Given the description of an element on the screen output the (x, y) to click on. 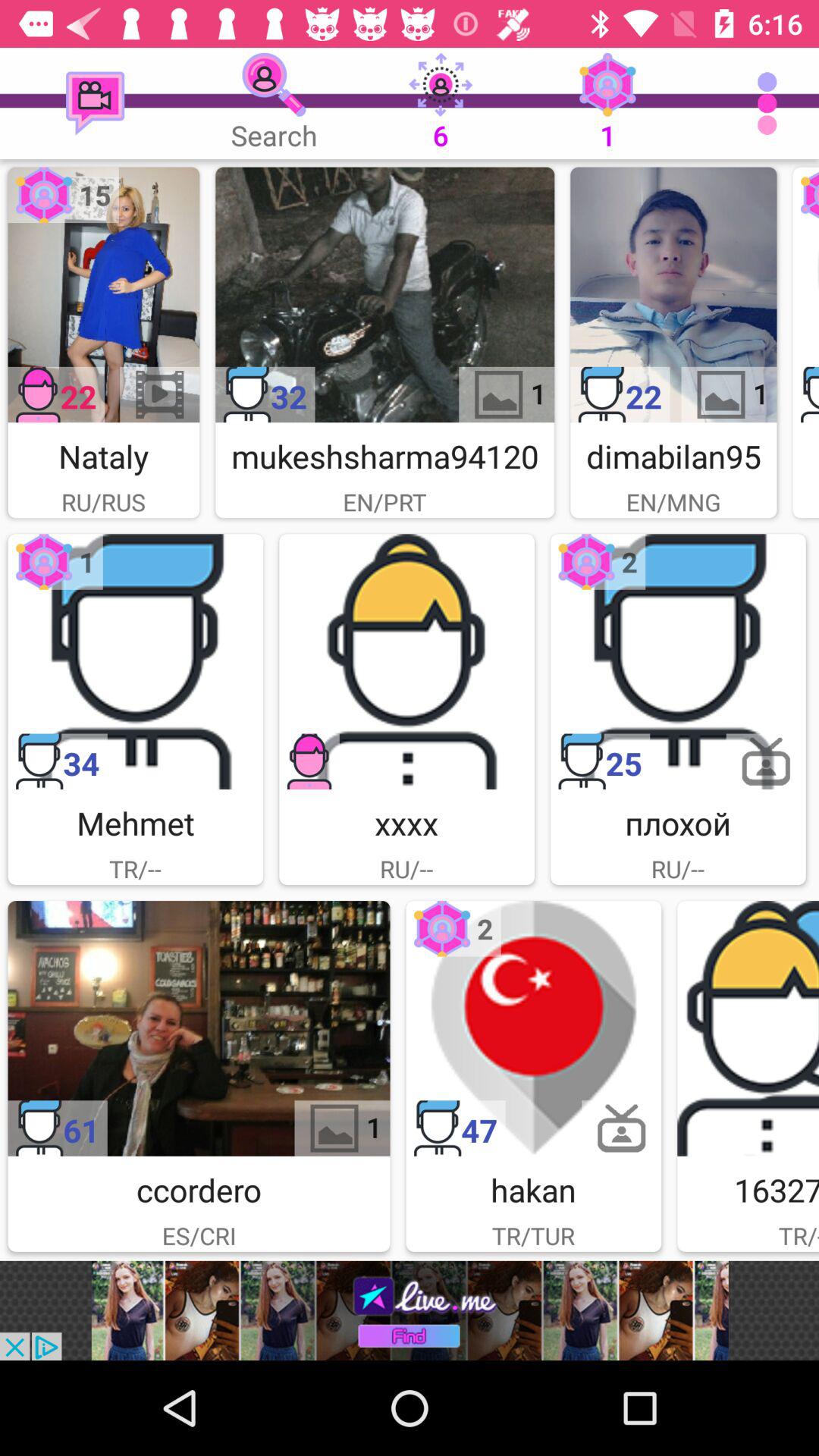
upload profile image (406, 661)
